Given the description of an element on the screen output the (x, y) to click on. 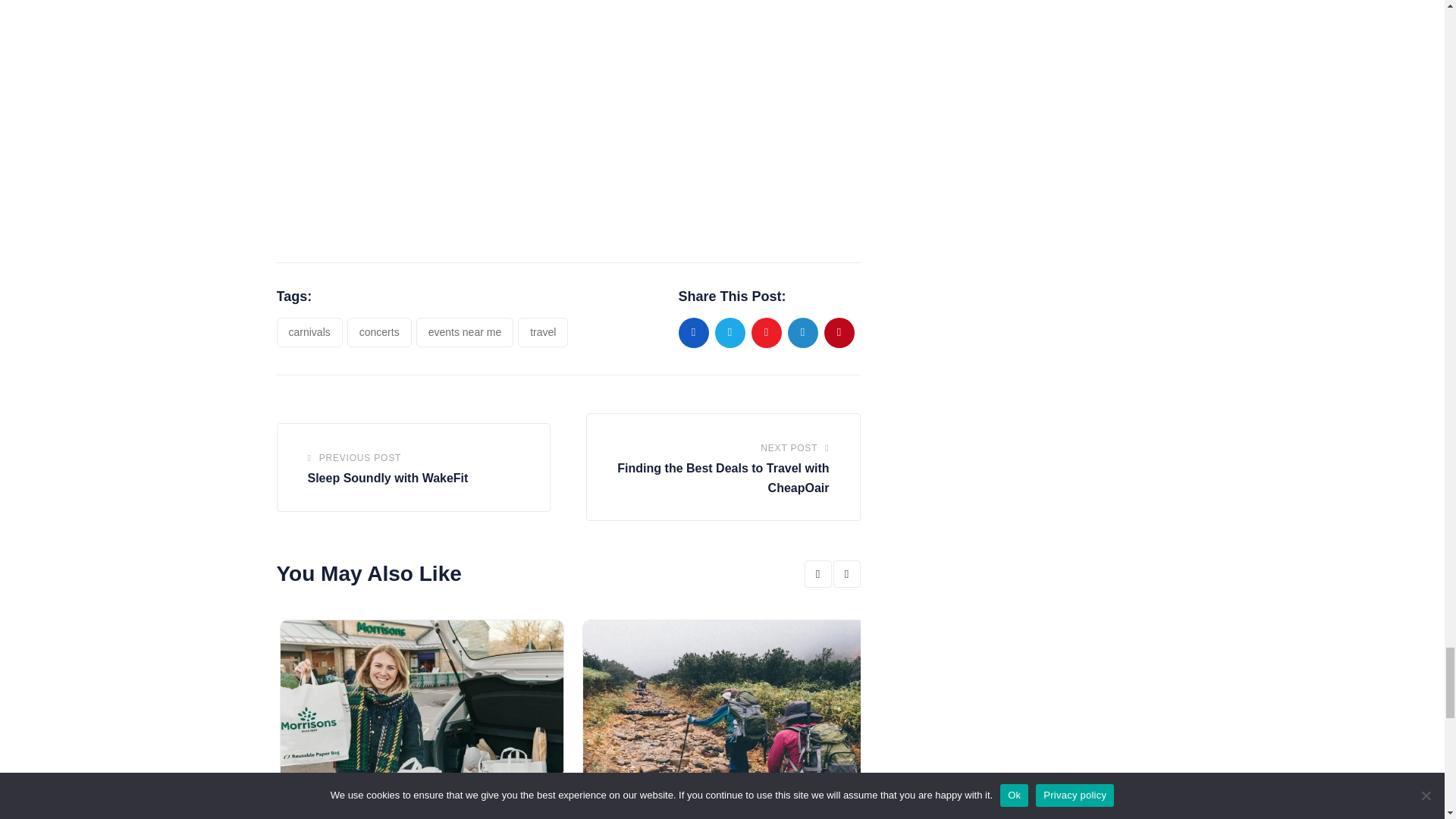
events near me (464, 332)
travel (542, 332)
concerts (379, 332)
carnivals (309, 332)
LinkedIn (801, 332)
Youtube (765, 332)
